Given the description of an element on the screen output the (x, y) to click on. 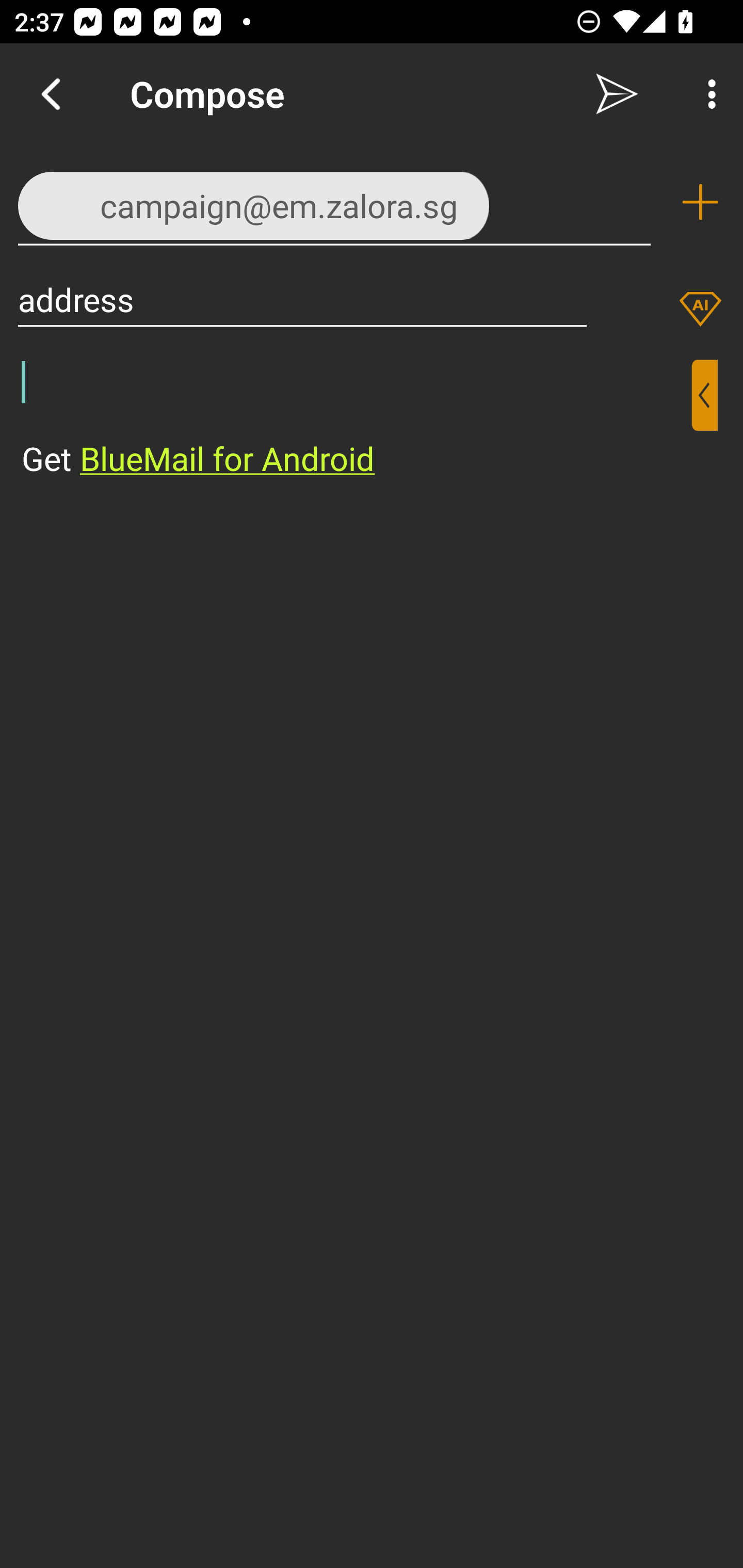
Navigate up (50, 93)
Send (616, 93)
More Options (706, 93)
<campaign@em.zalora.sg>,  (334, 201)
Add recipient (To) (699, 201)
address (302, 299)


⁣Get BlueMail for Android ​ (355, 419)
